Given the description of an element on the screen output the (x, y) to click on. 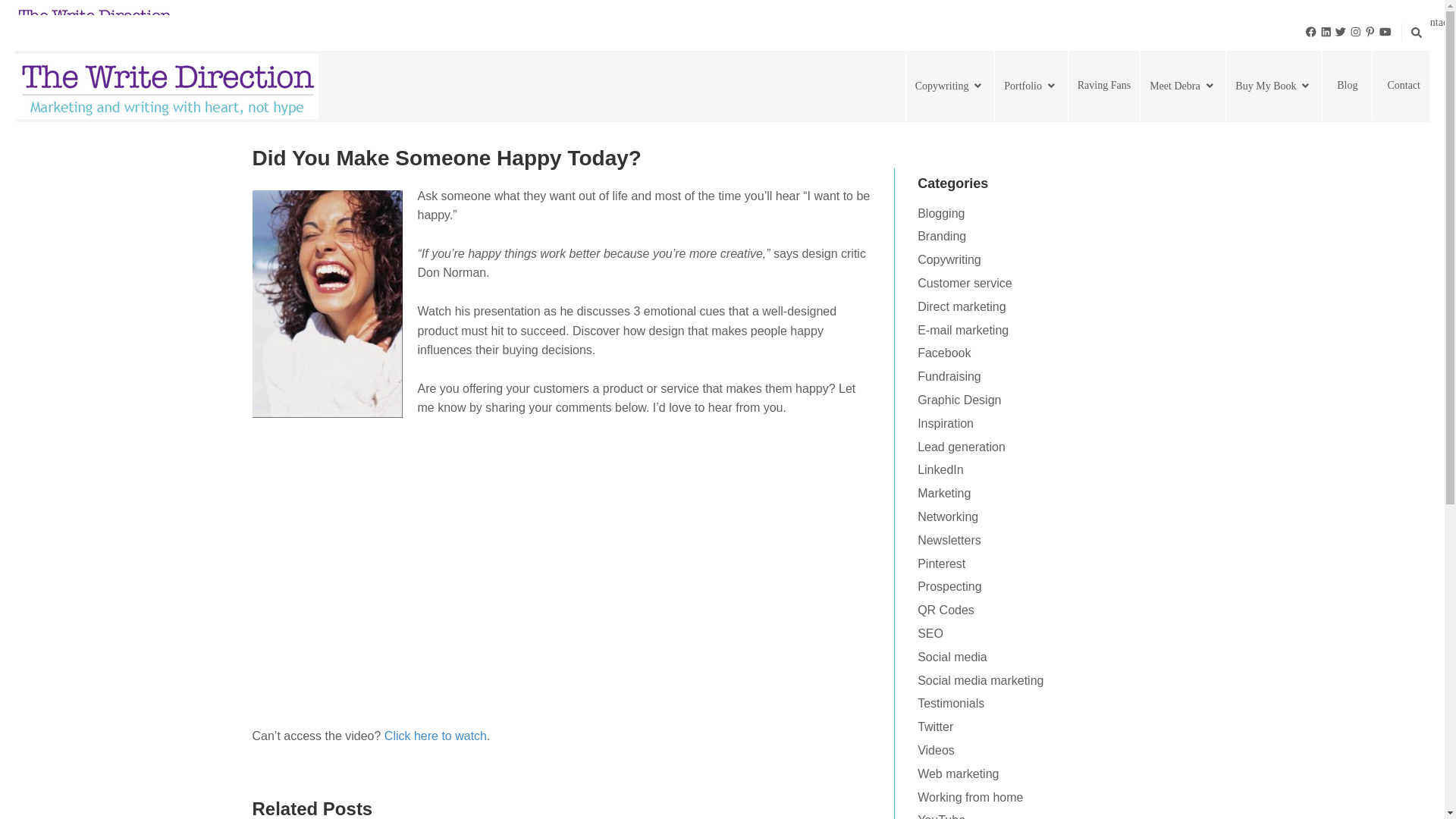
Write Direction (93, 19)
Raving Fans (1134, 20)
  Blog   (1377, 20)
Don Norman on Design and Emotion (435, 735)
Write Direction (166, 84)
Portfolio (1030, 85)
Copywriting (980, 21)
Meet Debra (1212, 21)
Copywriting (949, 85)
Portfolio (1061, 21)
